Given the description of an element on the screen output the (x, y) to click on. 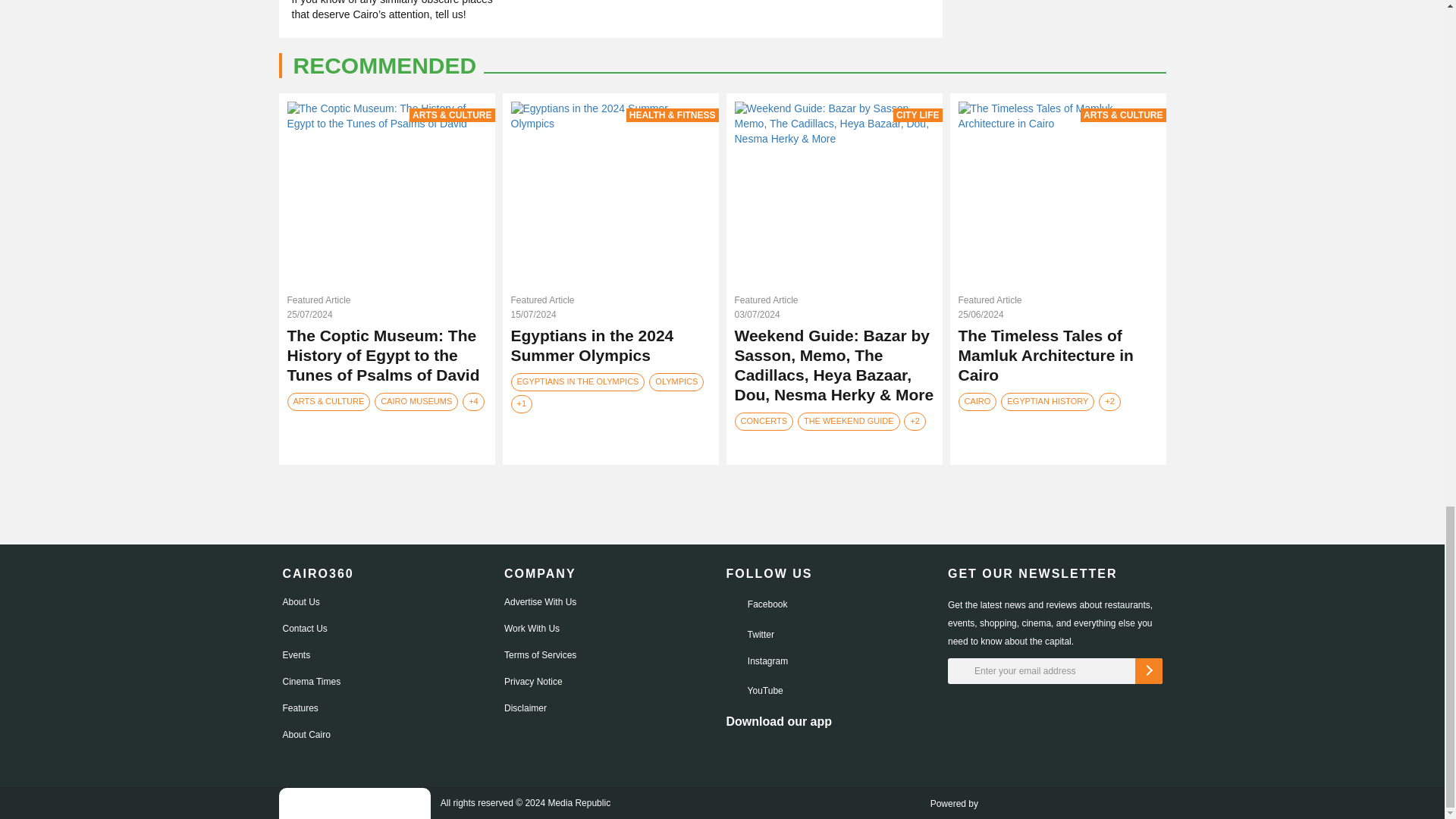
Email (1054, 670)
